Given the description of an element on the screen output the (x, y) to click on. 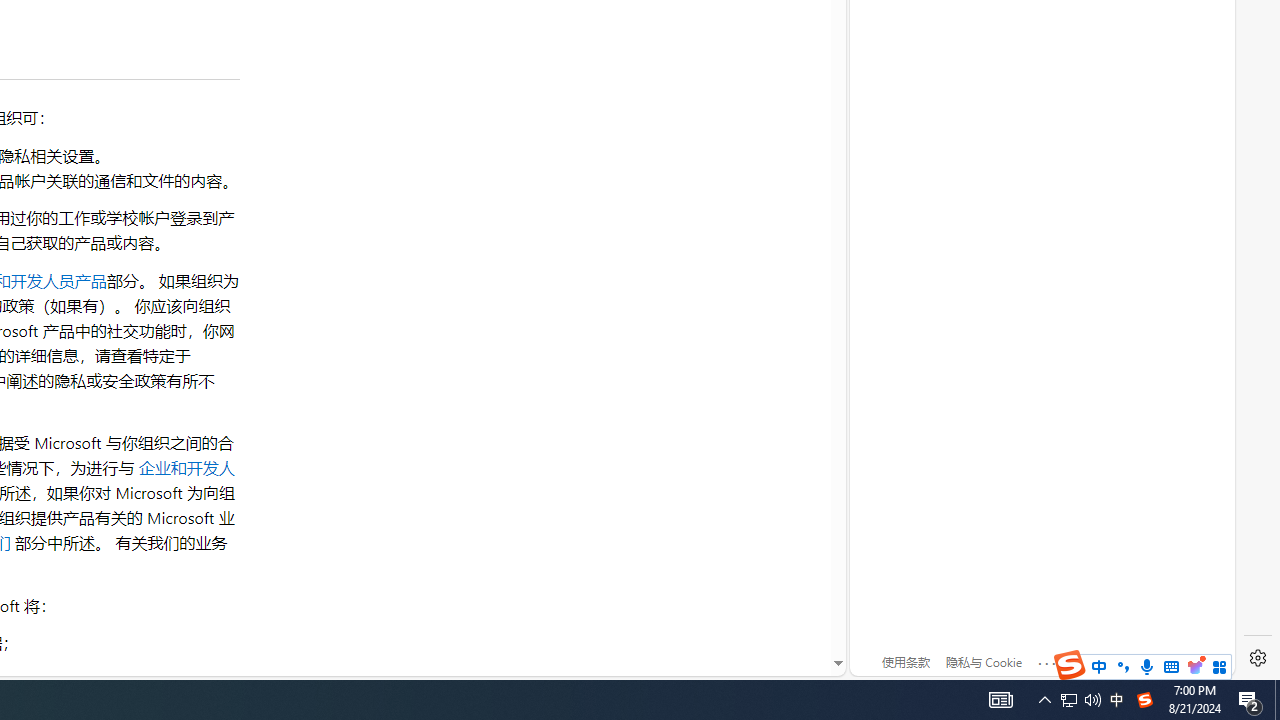
Settings (1258, 658)
